Given the description of an element on the screen output the (x, y) to click on. 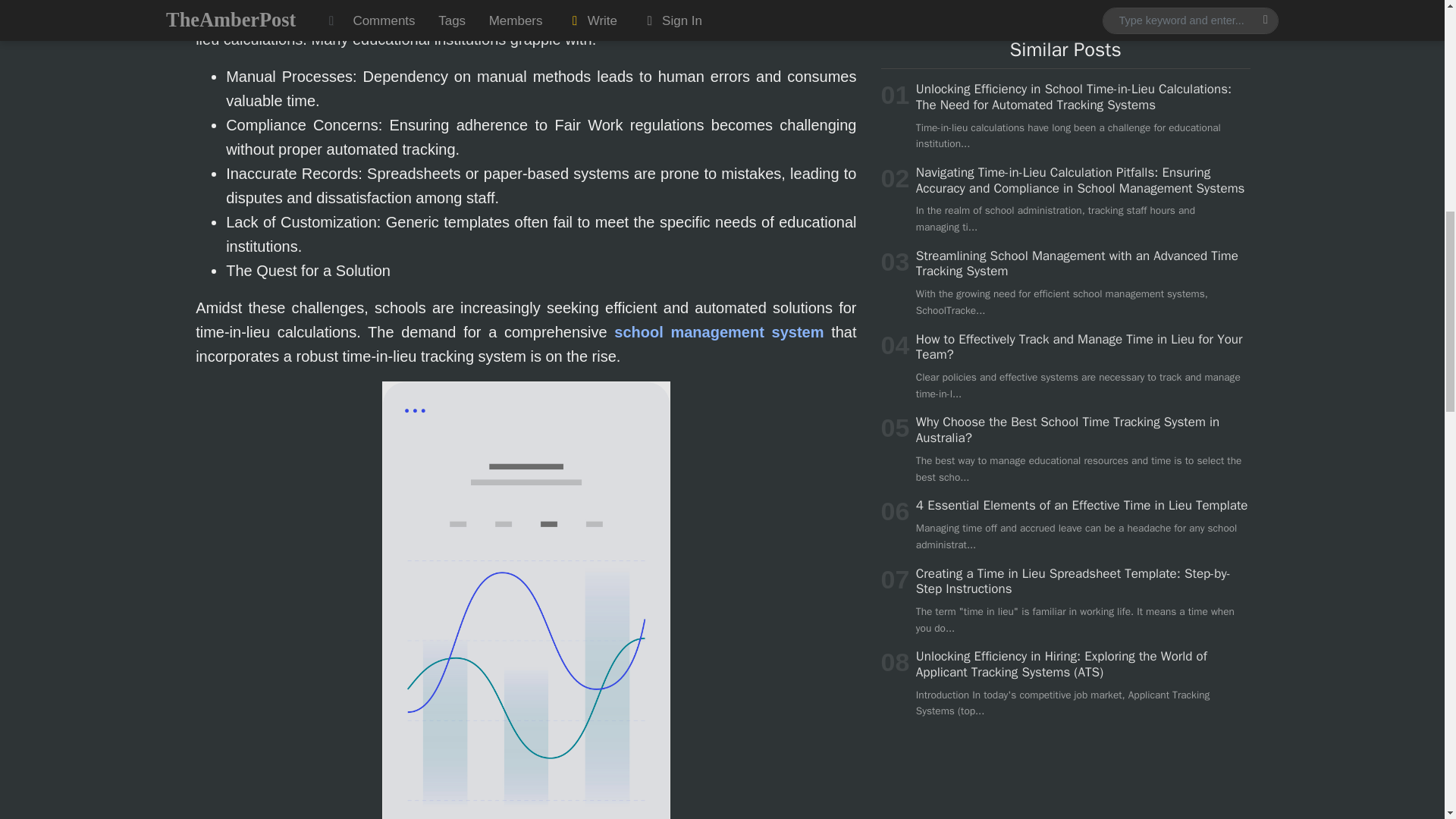
school management system (719, 331)
